Given the description of an element on the screen output the (x, y) to click on. 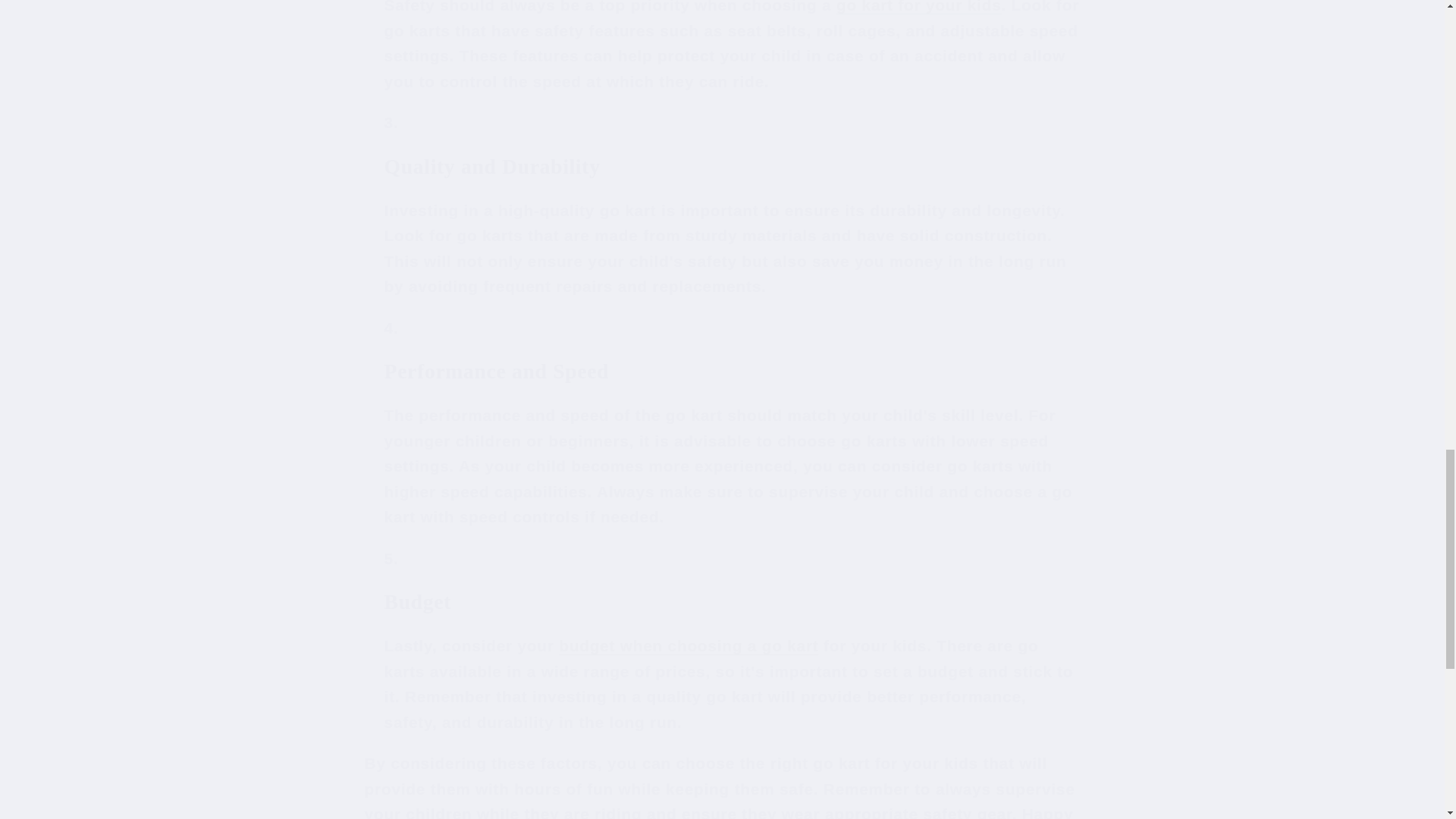
kids 2 seater Go karts for sale with free shipping (688, 645)
110cc Double Seat go karts for kids near me (918, 6)
